Given the description of an element on the screen output the (x, y) to click on. 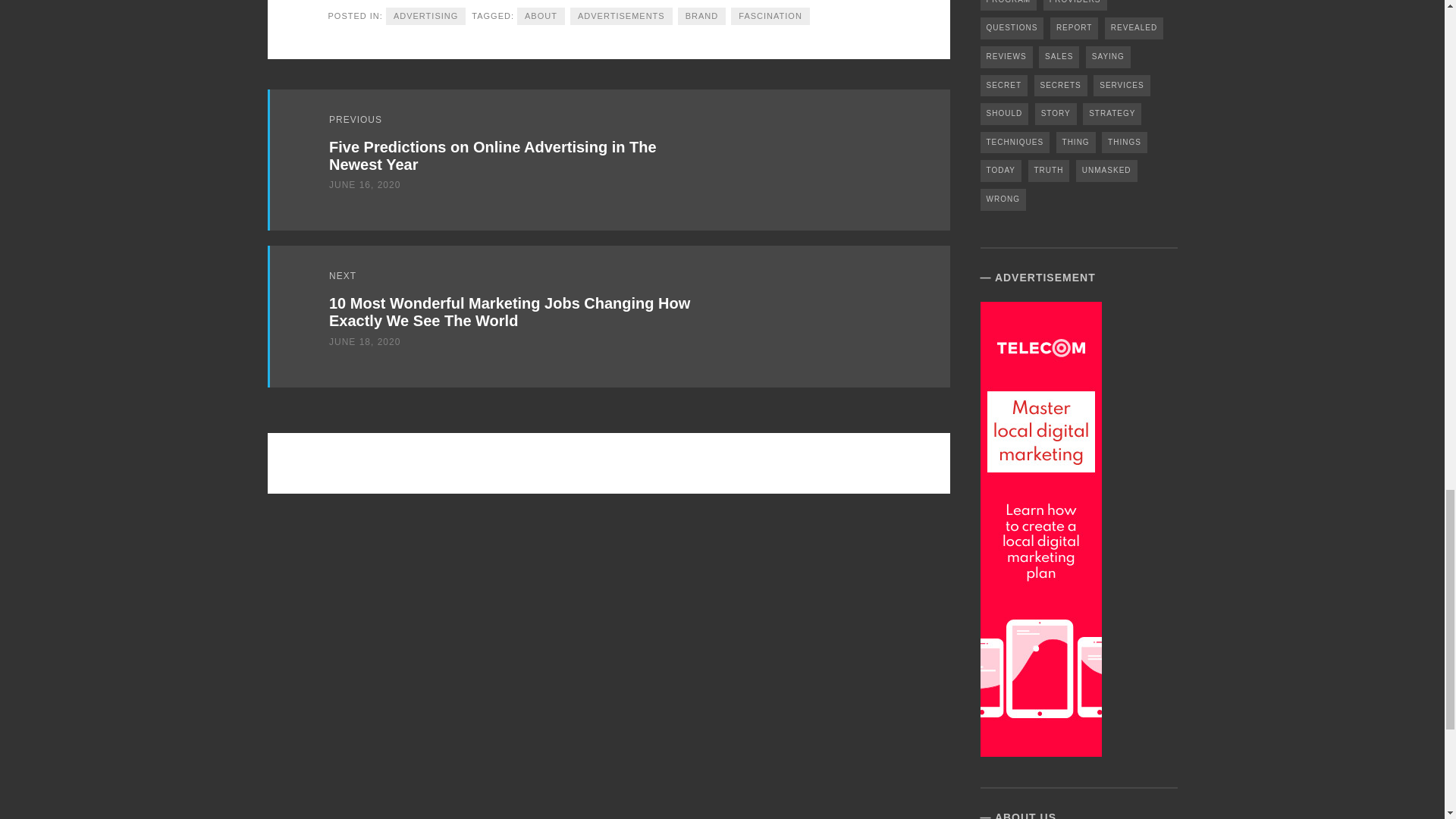
ABOUT (540, 16)
ADVERTISEMENTS (621, 16)
ADVERTISING (425, 16)
BRAND (702, 16)
Five Predictions on Online Advertising in The Newest Year (492, 154)
FASCINATION (769, 16)
